Given the description of an element on the screen output the (x, y) to click on. 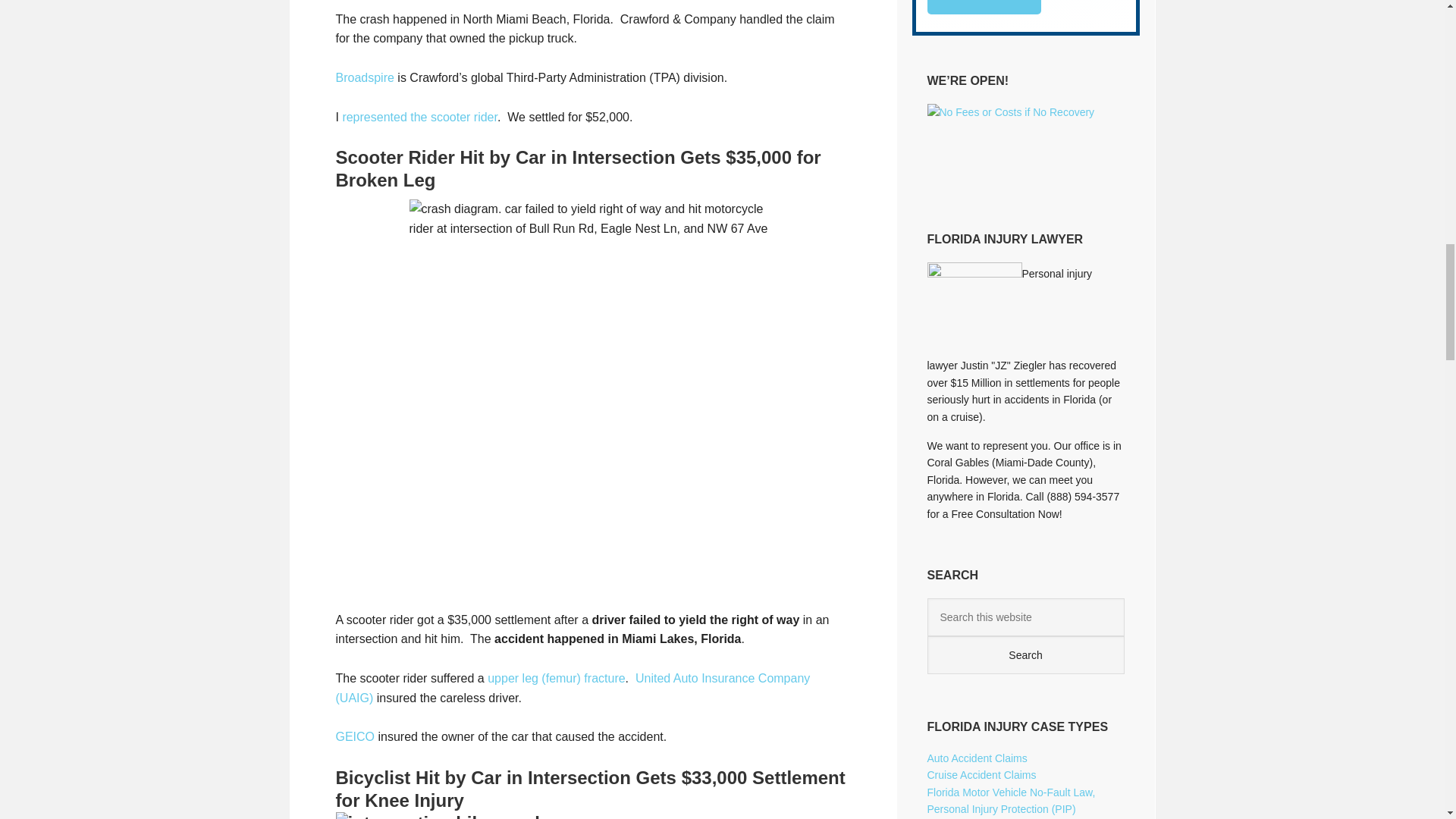
Submit (983, 7)
Search (1025, 655)
Search (1025, 655)
